Given the description of an element on the screen output the (x, y) to click on. 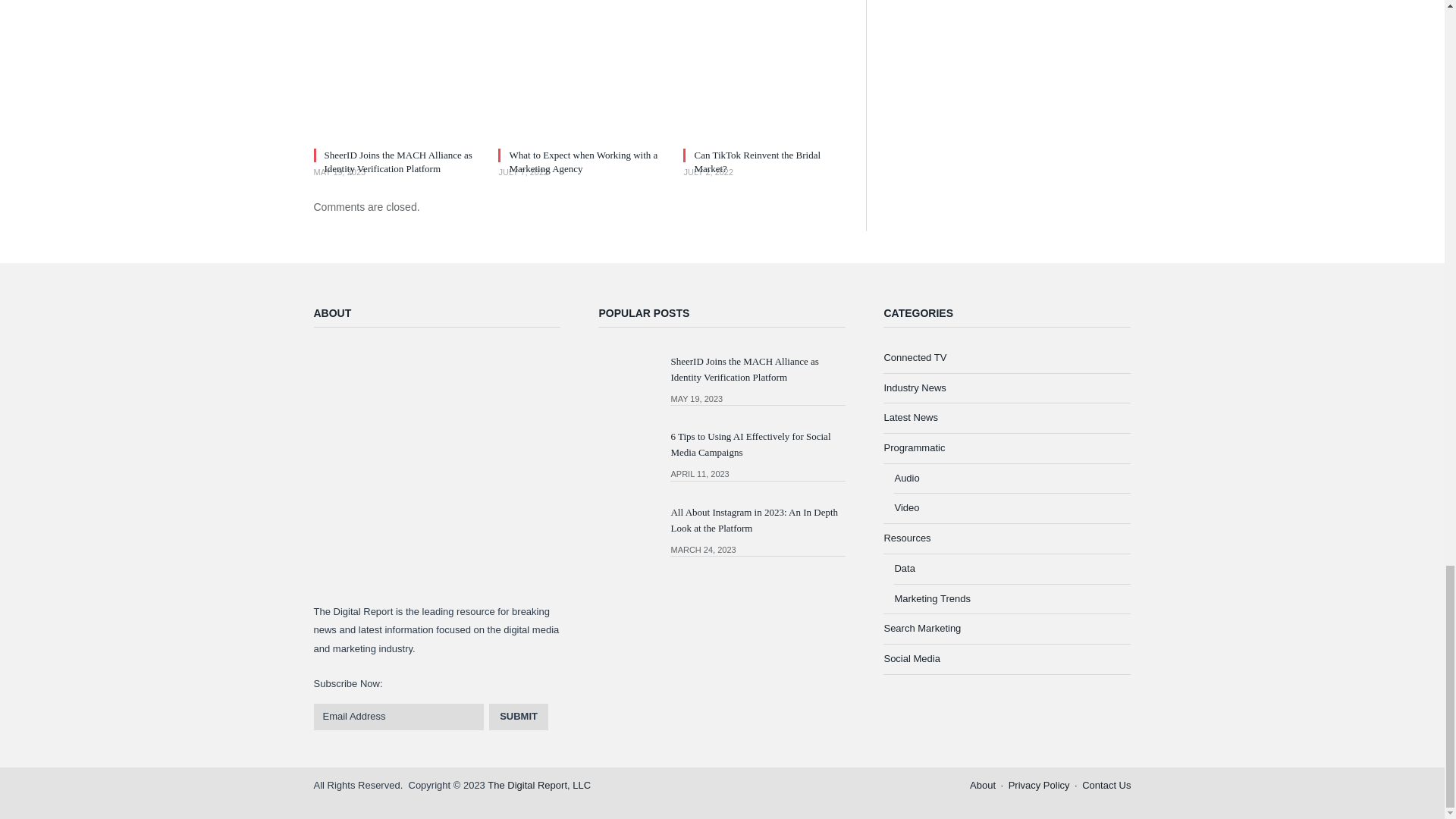
SUBMIT (518, 716)
